Given the description of an element on the screen output the (x, y) to click on. 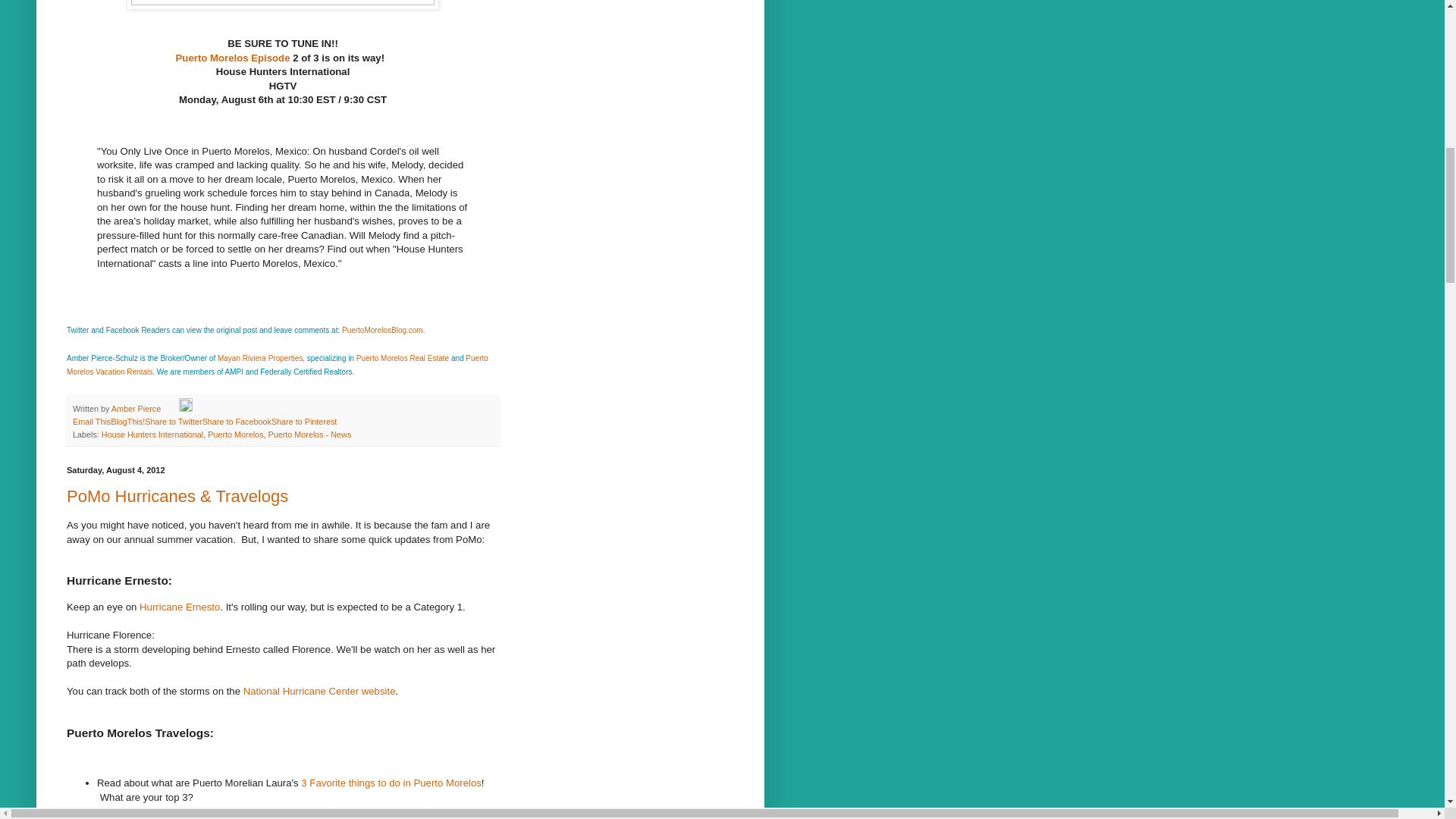
Edit Post (185, 408)
Share to Twitter (173, 420)
Share to Pinterest (303, 420)
PuertoMorelosBlog.com (382, 329)
Puerto Morelos Episode (232, 57)
Email This (91, 420)
House Hunters International (152, 433)
Email This (91, 420)
Share to Facebook (236, 420)
Share to Facebook (236, 420)
Share to Pinterest (303, 420)
Puerto Morelos (235, 433)
author profile (137, 408)
Puerto Morelos Real Estate (402, 357)
Share to Twitter (173, 420)
